Given the description of an element on the screen output the (x, y) to click on. 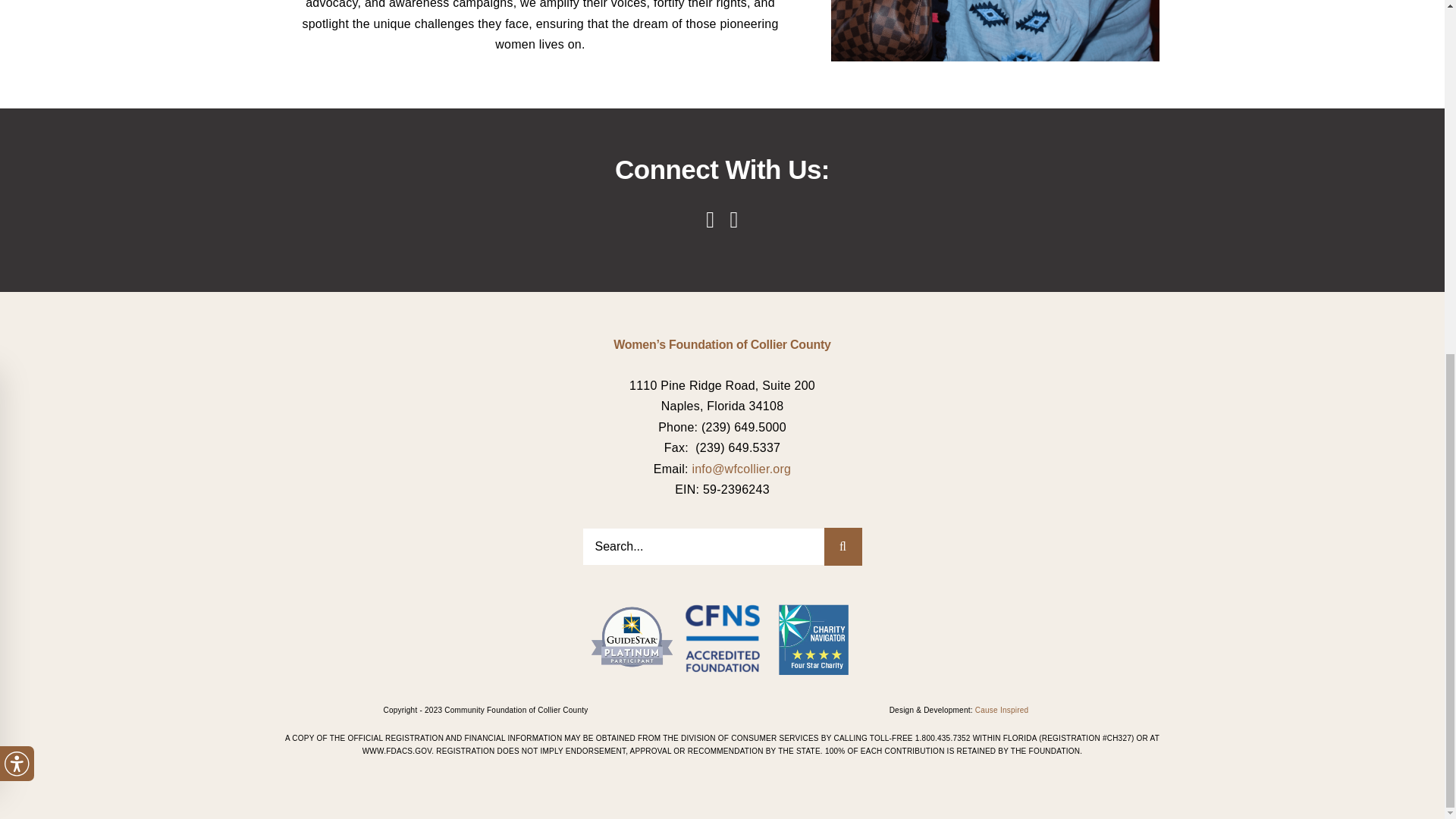
Cause Inspired (1002, 709)
